Given the description of an element on the screen output the (x, y) to click on. 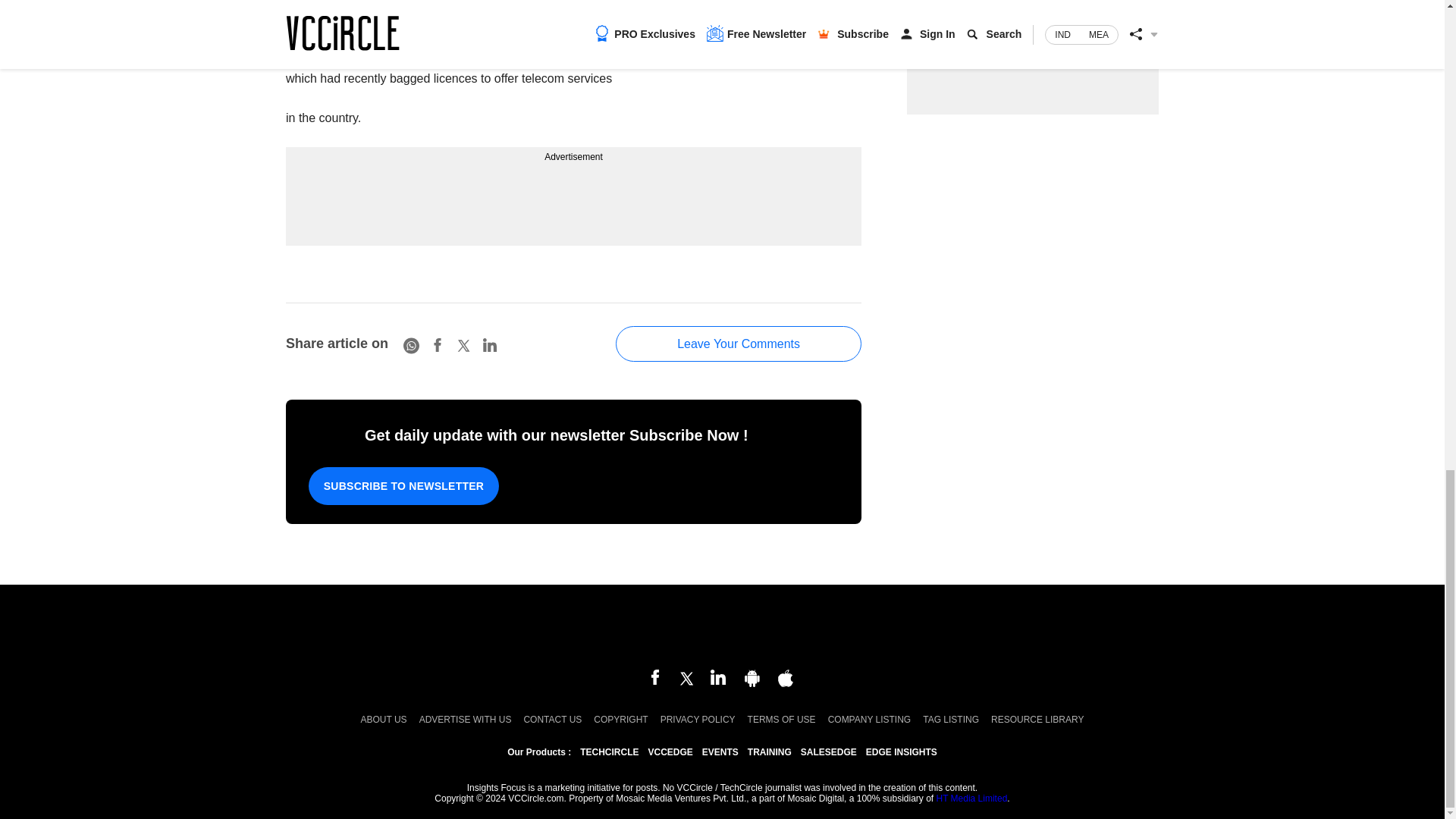
Leave Your Comments (738, 343)
SUBSCRIBE TO NEWSLETTER (403, 485)
Mosaic Digital (721, 628)
